Given the description of an element on the screen output the (x, y) to click on. 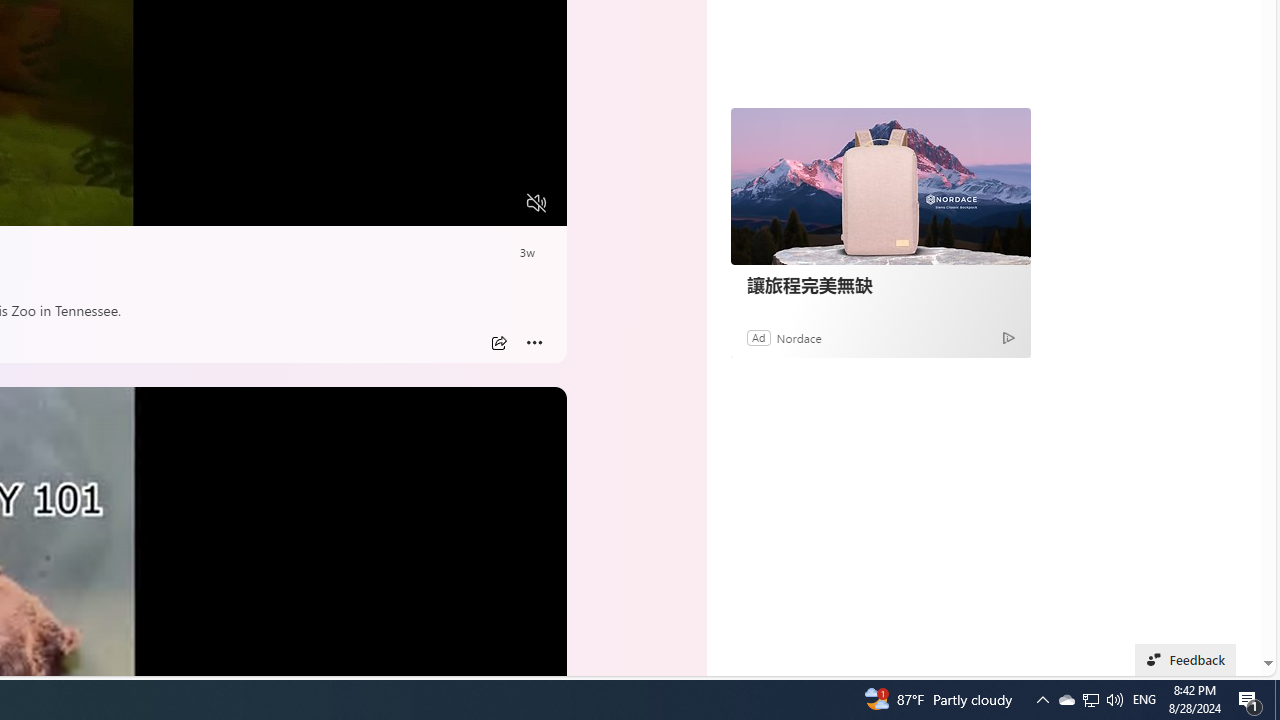
Quality Settings (418, 203)
Fullscreen (497, 203)
Share (498, 343)
Unmute (535, 203)
Share (498, 343)
Captions (457, 203)
